Given the description of an element on the screen output the (x, y) to click on. 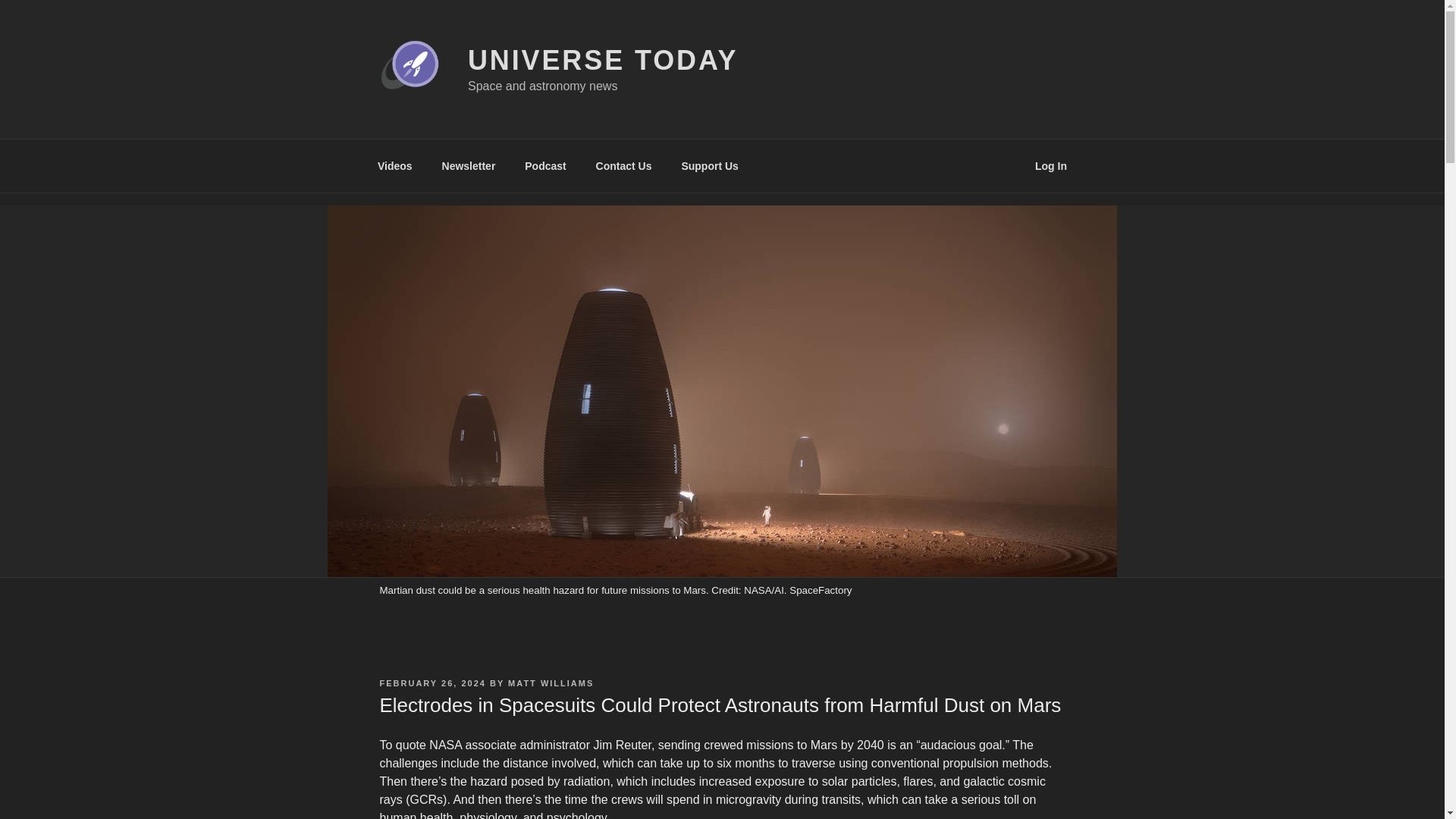
MATT WILLIAMS (551, 682)
Support Us (709, 165)
Contact Us (623, 165)
Podcast (545, 165)
Videos (394, 165)
Newsletter (468, 165)
UNIVERSE TODAY (602, 60)
FEBRUARY 26, 2024 (431, 682)
Log In (1051, 165)
